Given the description of an element on the screen output the (x, y) to click on. 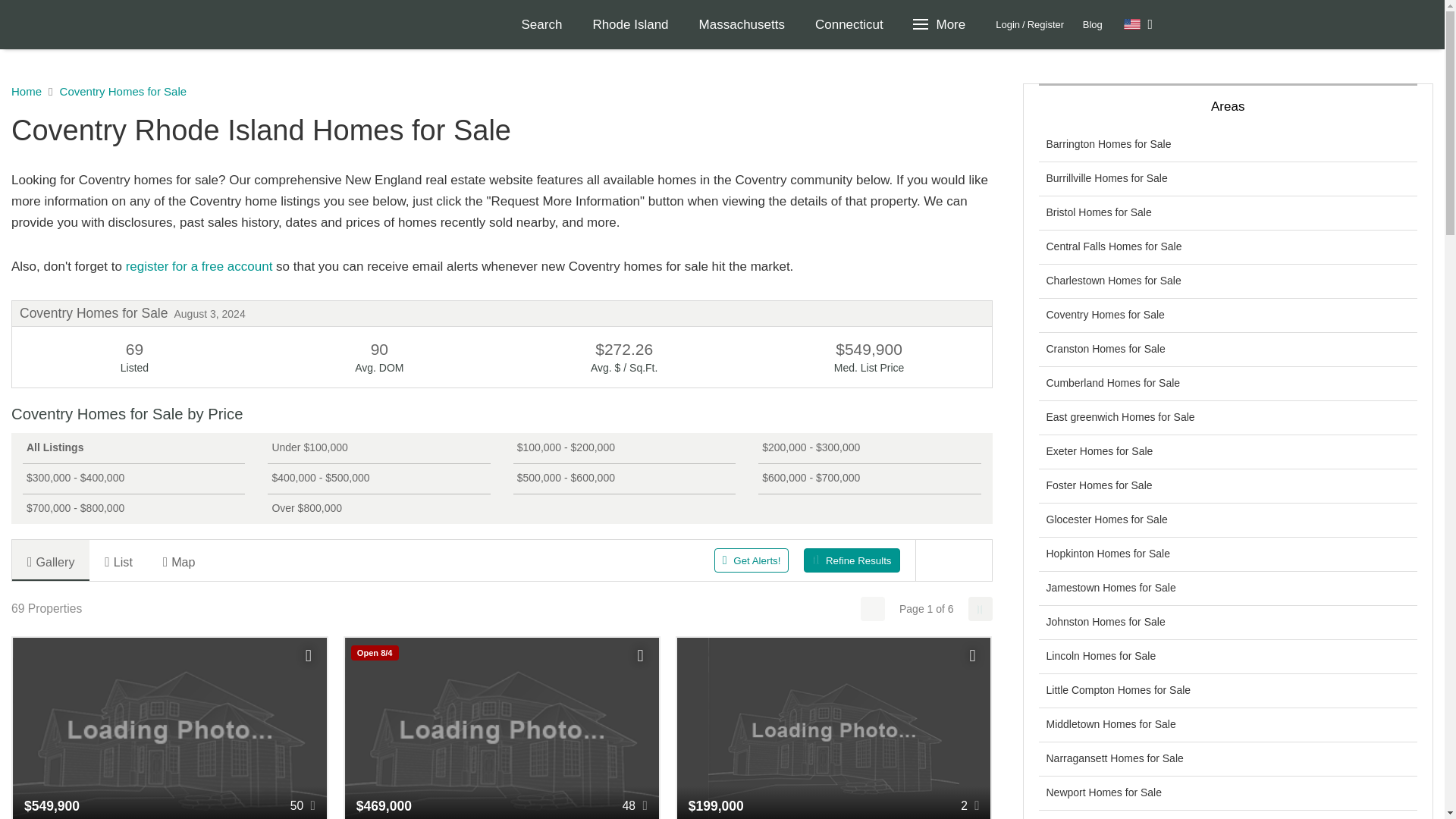
Rhode Island (629, 24)
Search (542, 24)
Register here (199, 266)
Select Language (1138, 24)
